Given the description of an element on the screen output the (x, y) to click on. 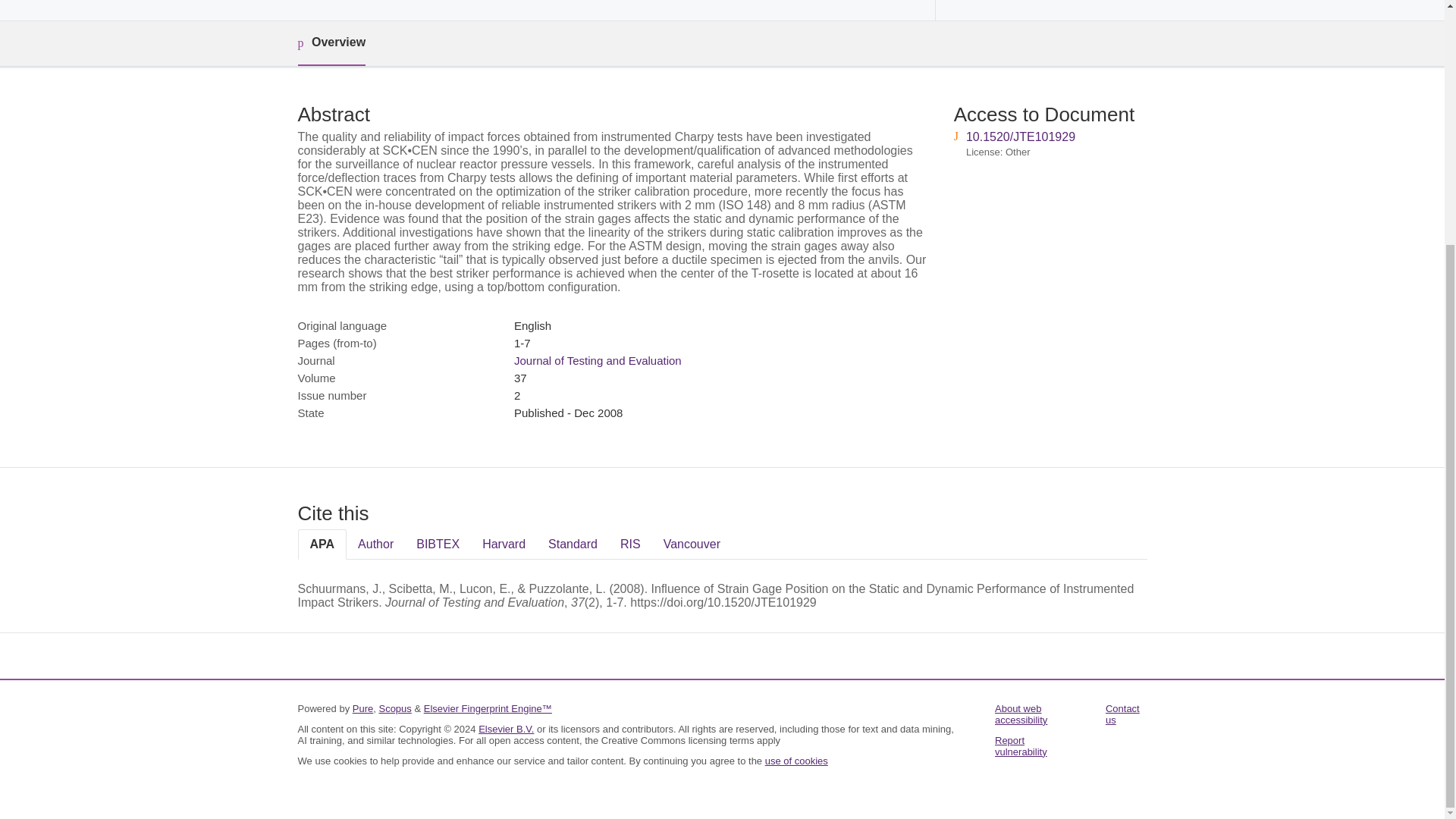
Scopus (394, 708)
Pure (362, 708)
use of cookies (796, 760)
About web accessibility (1020, 713)
Contact us (1122, 713)
Elsevier B.V. (506, 728)
Report vulnerability (1020, 745)
Journal of Testing and Evaluation (597, 359)
Overview (331, 43)
